Given the description of an element on the screen output the (x, y) to click on. 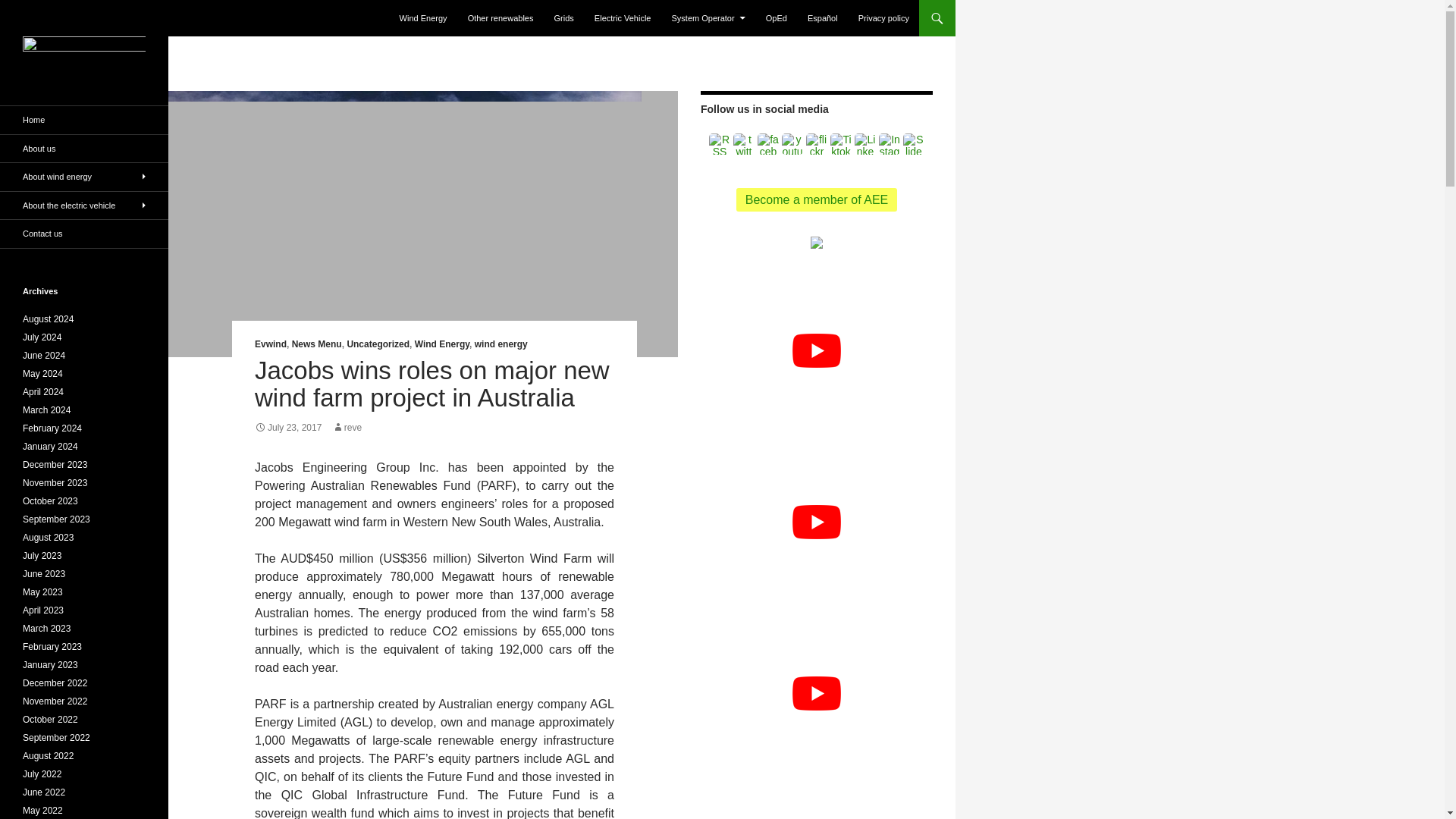
July 23, 2017 (287, 427)
flickr (816, 143)
Evwind (270, 344)
Wind Energy (441, 344)
RSS (719, 143)
OpEd (776, 18)
News Menu (317, 344)
Wind Energy (423, 18)
Uncategorized (377, 344)
Privacy policy (883, 18)
